Given the description of an element on the screen output the (x, y) to click on. 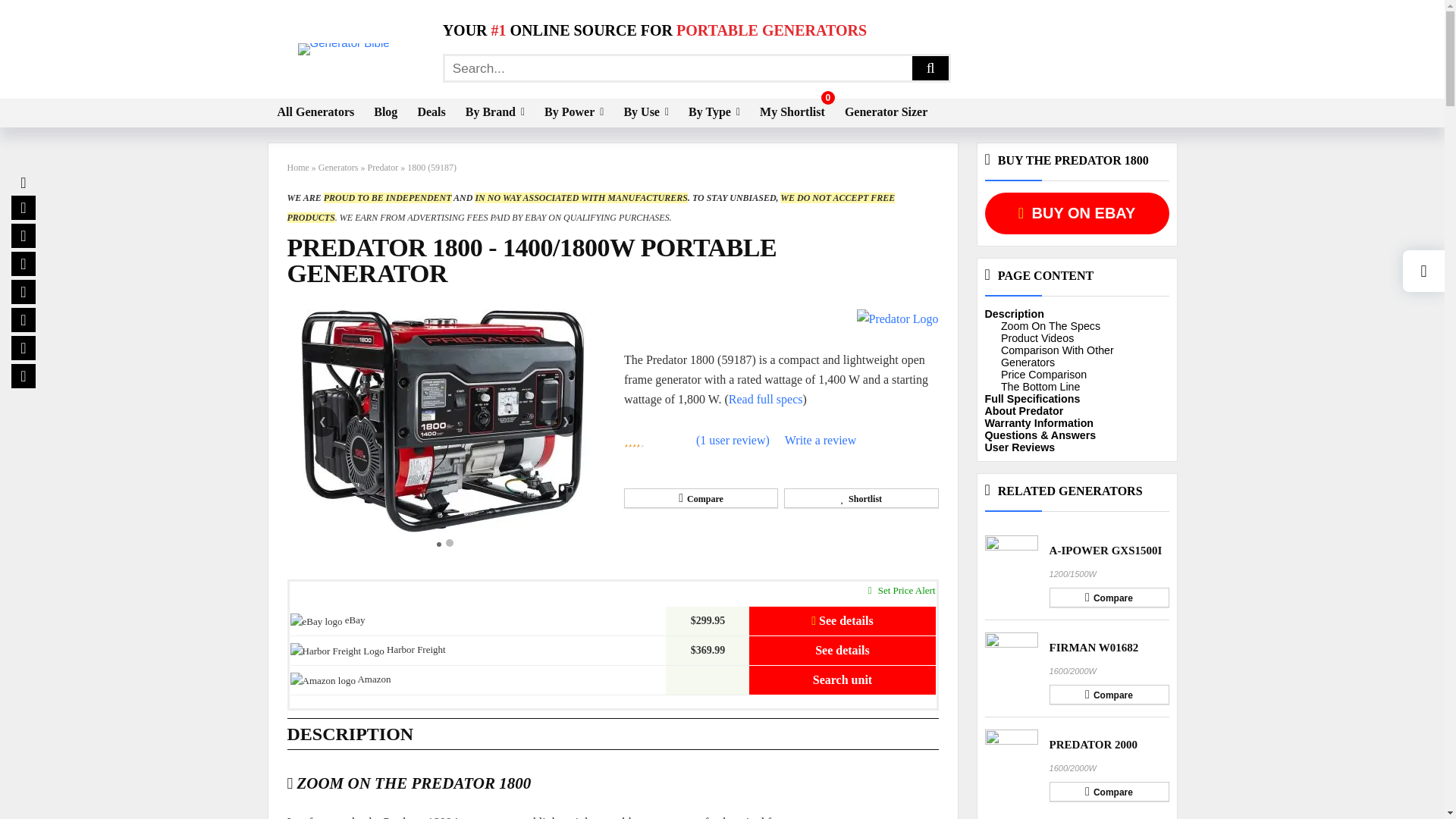
Share on Pinterest (22, 319)
Blog (385, 112)
Deals (430, 112)
Share on Facebook (22, 207)
Click to scroll and write your review (820, 440)
All Generators (315, 112)
Click to search for the unit at amazon.com (841, 679)
By Power (573, 112)
Click to see the unit at harborfreight.com (841, 650)
Share on LinkedIn (22, 291)
